Given the description of an element on the screen output the (x, y) to click on. 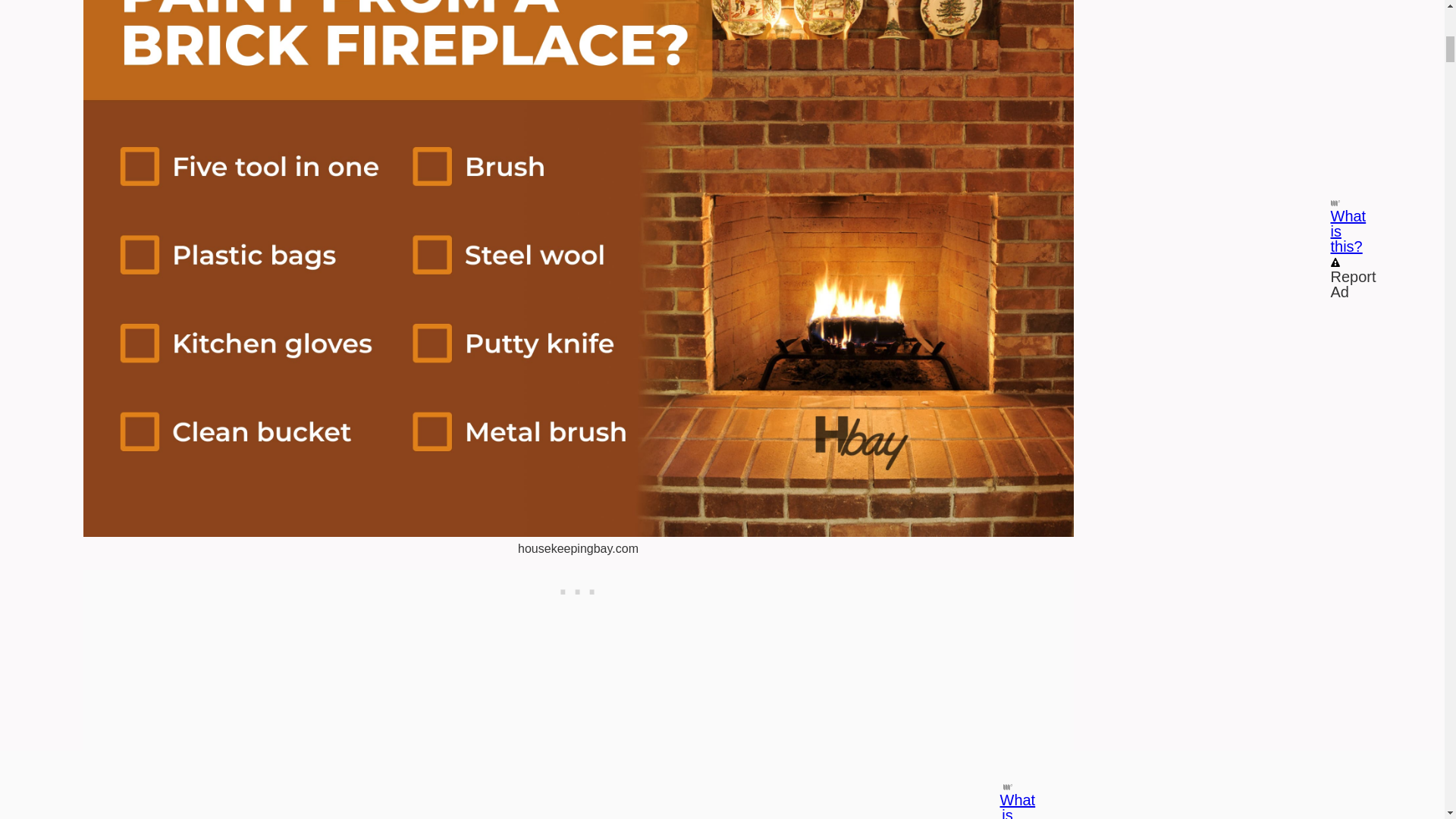
3rd party ad content (577, 588)
